Given the description of an element on the screen output the (x, y) to click on. 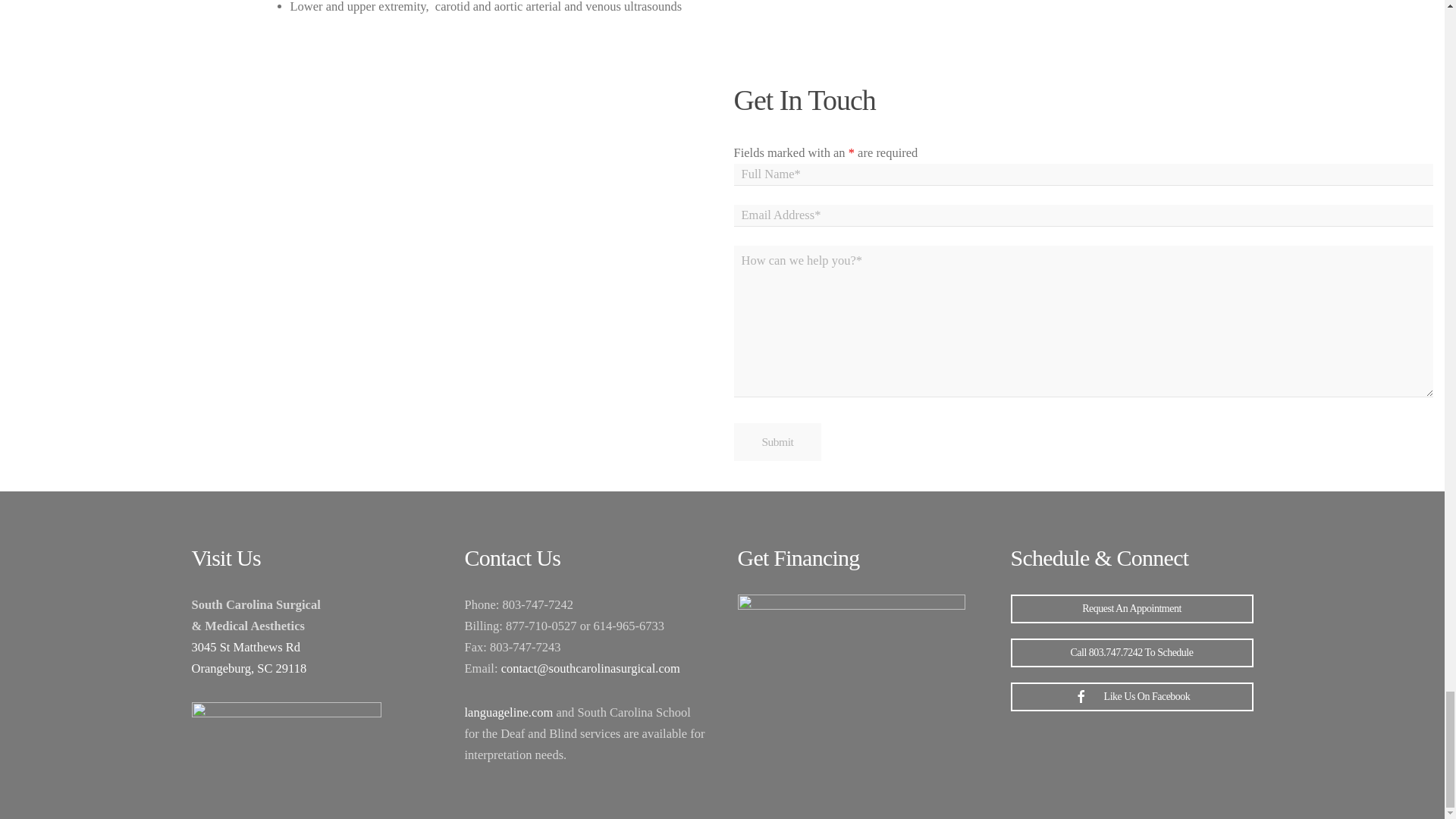
Submit (777, 442)
